Given the description of an element on the screen output the (x, y) to click on. 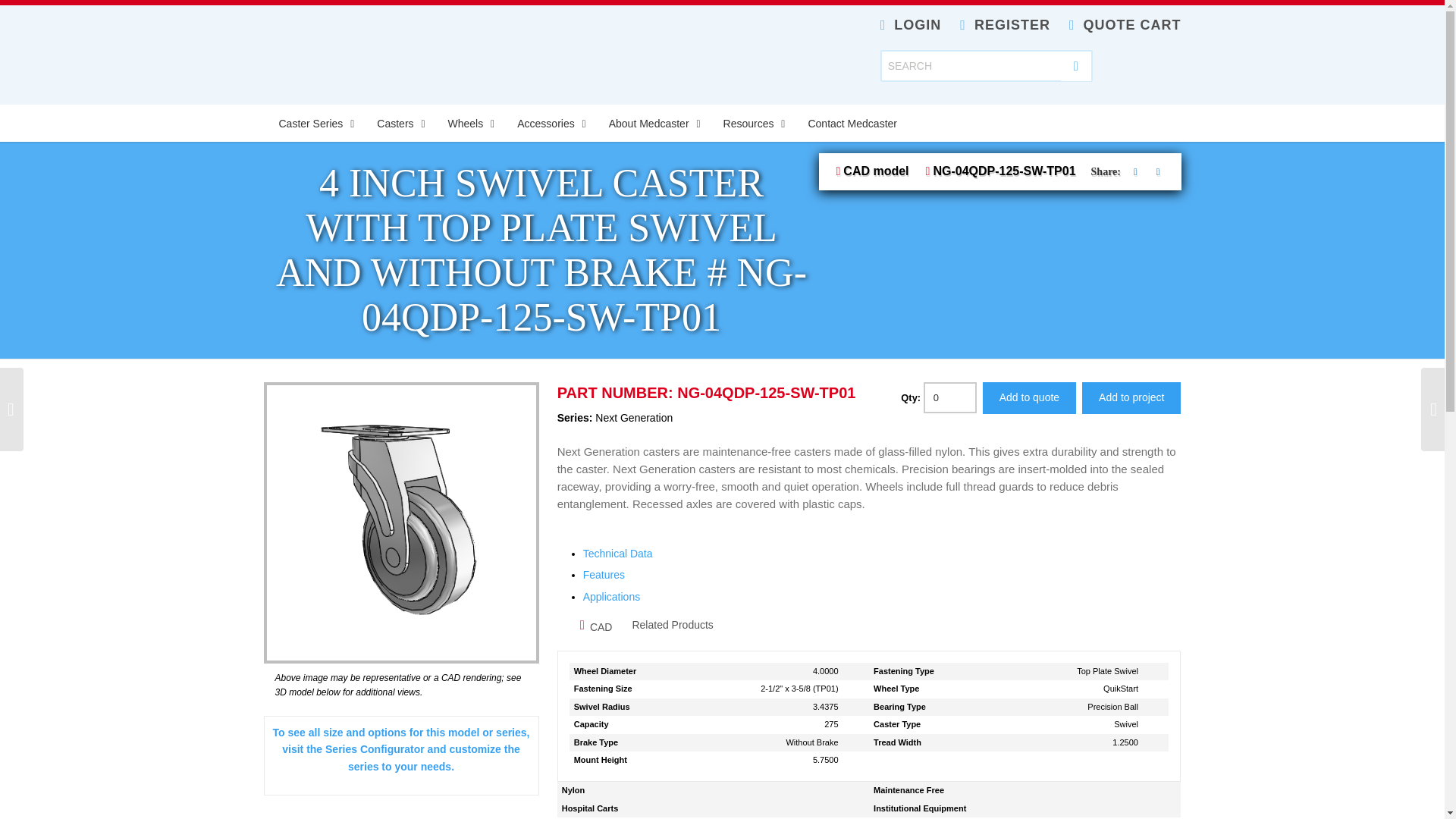
REGISTER (1004, 24)
0 (949, 397)
QUOTE CART (1124, 24)
LOGIN (911, 24)
Caster Series (312, 122)
